Given the description of an element on the screen output the (x, y) to click on. 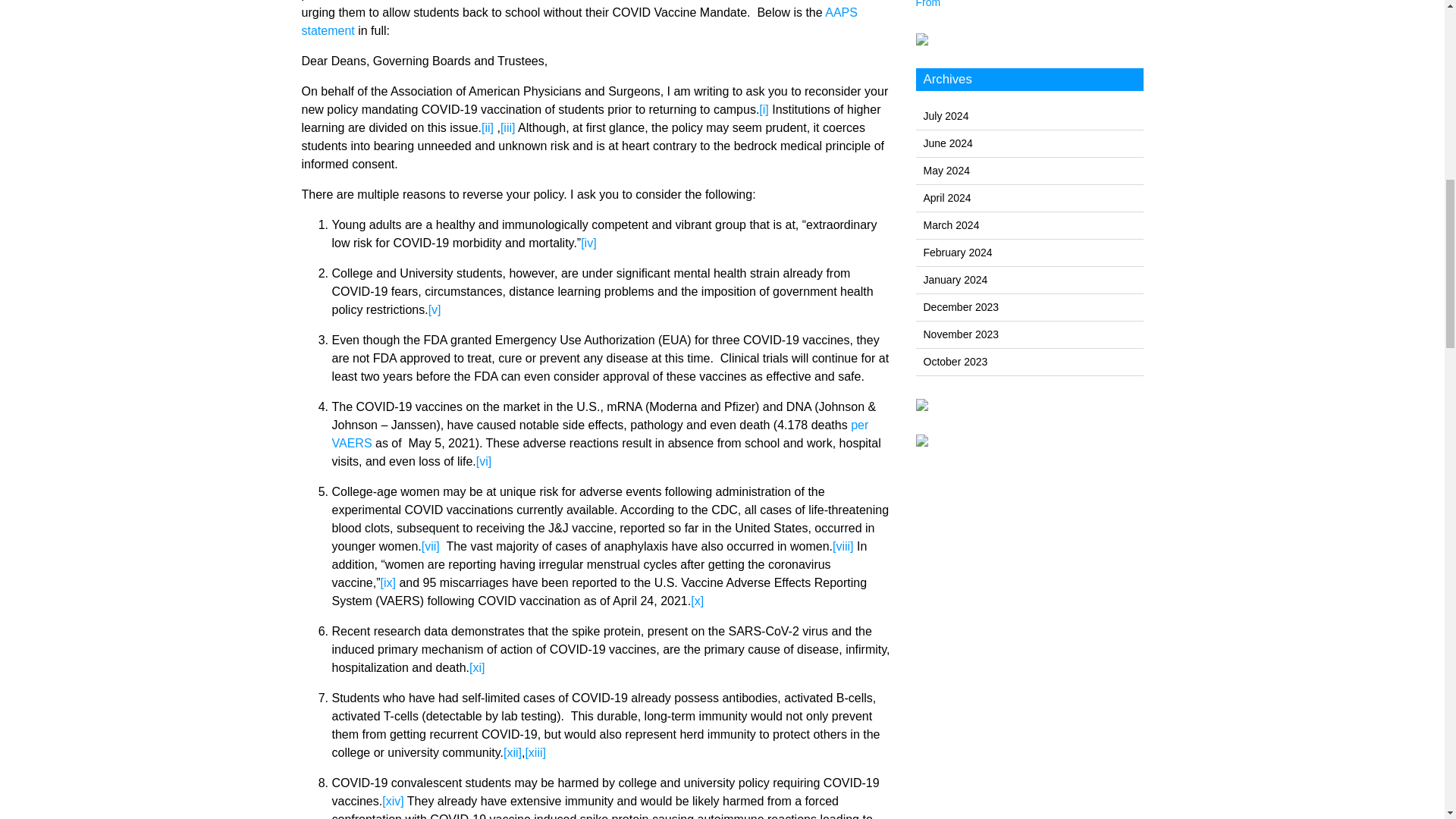
AAPS statement (579, 20)
per VAERS (600, 433)
